Given the description of an element on the screen output the (x, y) to click on. 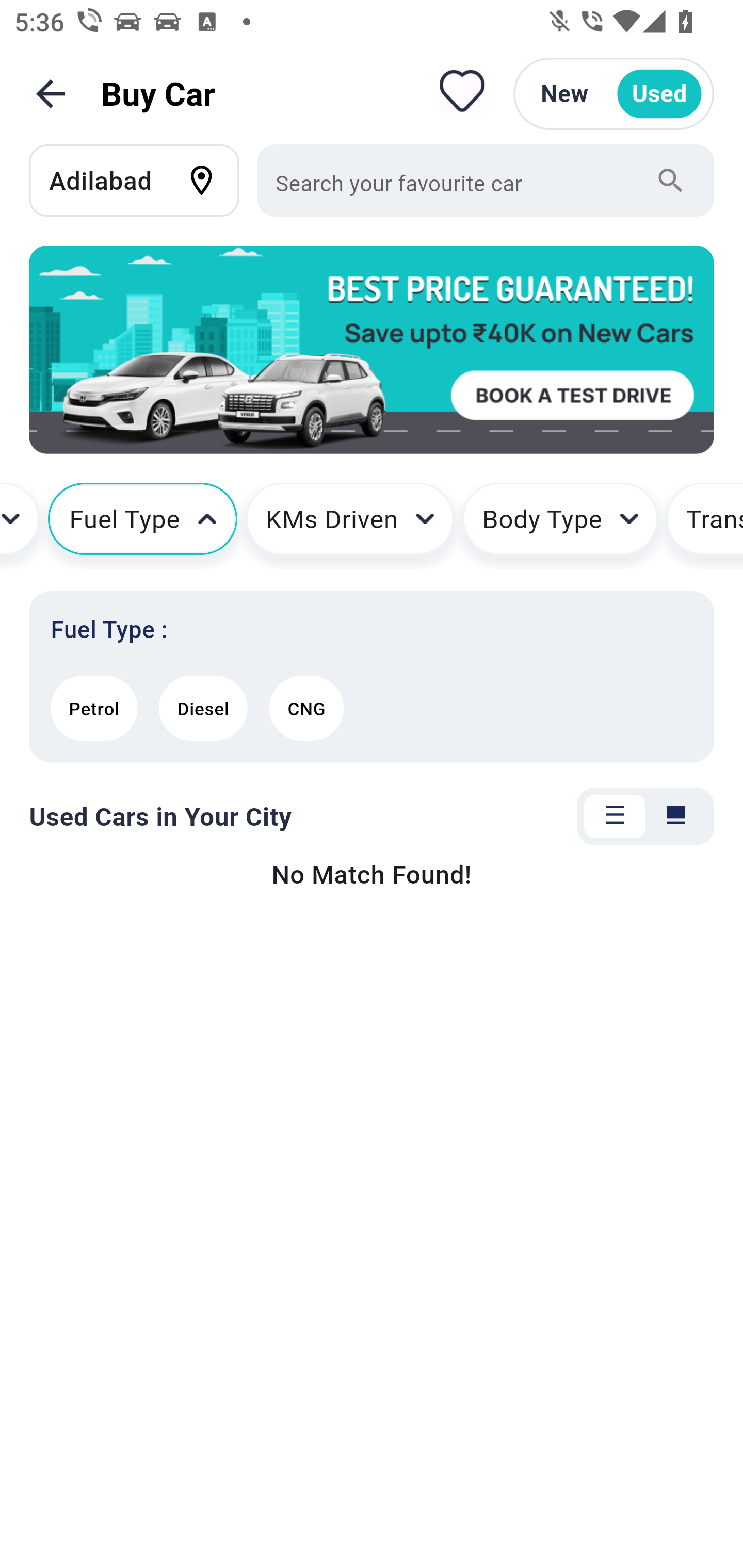
Back (50, 93)
New (564, 93)
Used (659, 93)
Adilabad (142, 180)
Fuel Type (142, 525)
KMs Driven (349, 525)
Body Type (559, 525)
Petrol (93, 707)
Diesel (203, 707)
CNG (305, 707)
Tab 1 of 2 (614, 816)
Tab 2 of 2 (675, 816)
